Given the description of an element on the screen output the (x, y) to click on. 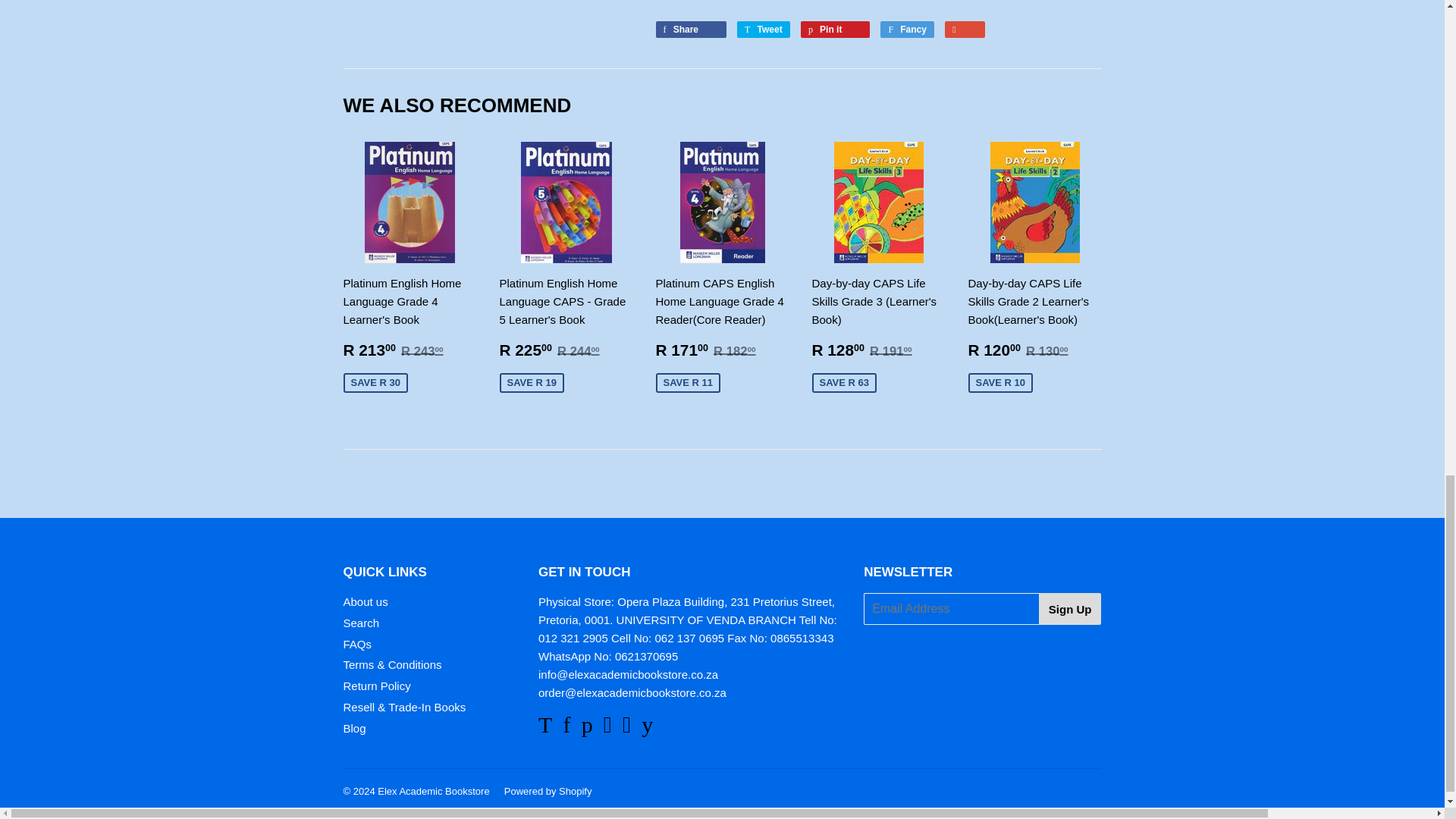
Elex Academic Bookstore on Twitter (544, 727)
Sign Up (1070, 608)
